Given the description of an element on the screen output the (x, y) to click on. 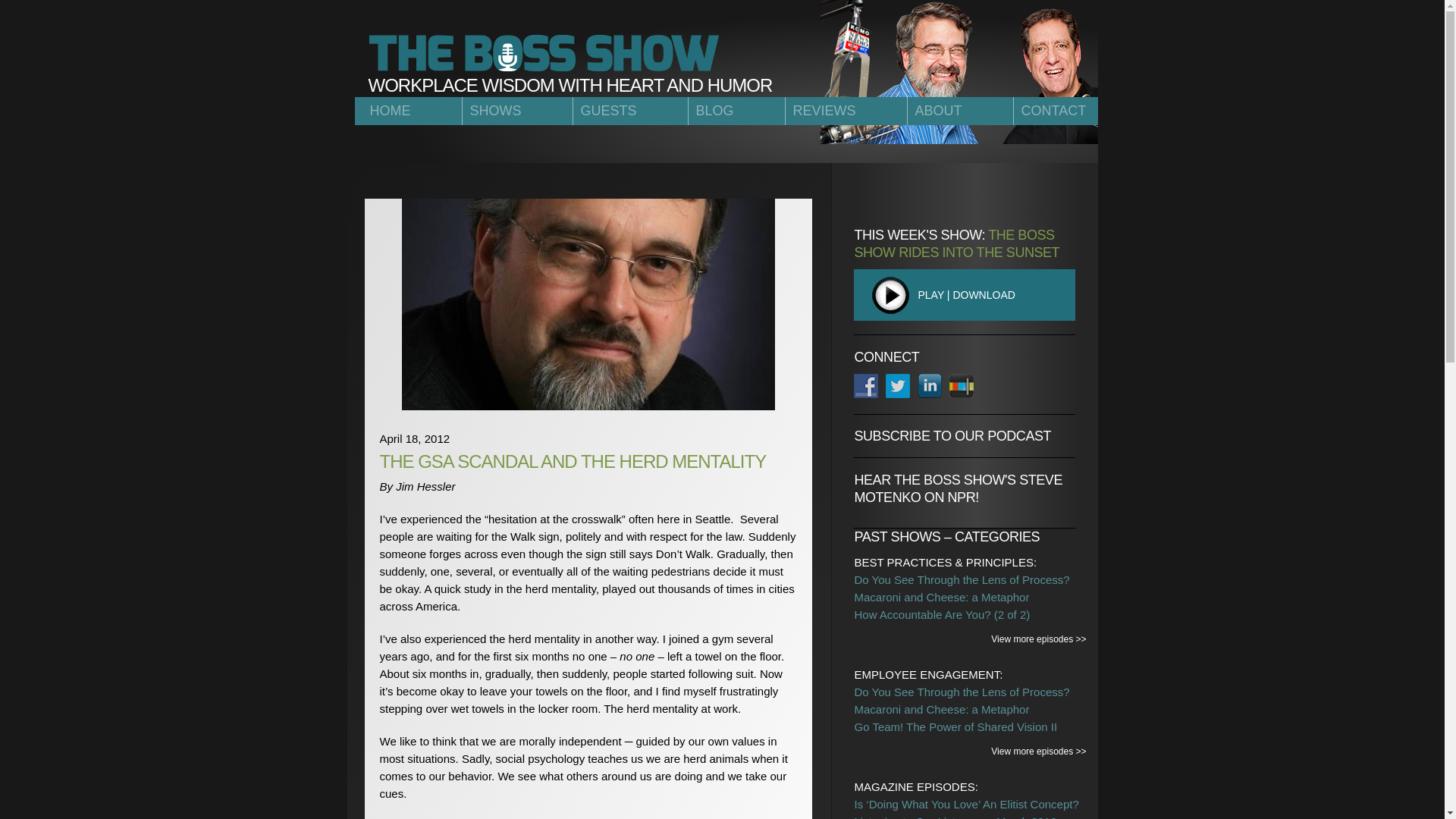
SHOWS (516, 111)
Macaroni and Cheese: a Metaphor (941, 596)
PLAY (907, 294)
Do You See Through the Lens of Process? (960, 579)
REVIEWS (845, 111)
Macaroni and Cheese: a Metaphor (941, 708)
THE BOSS SHOW (544, 52)
Follow Us on LinkedIn (929, 385)
Follow Us on Facebook (865, 385)
ABOUT (960, 111)
CONTACT (1049, 111)
The Boss Show (544, 52)
Follow Us on Twitter (897, 385)
GUESTS (629, 111)
EMPLOYEE ENGAGEMENT: (928, 674)
